Given the description of an element on the screen output the (x, y) to click on. 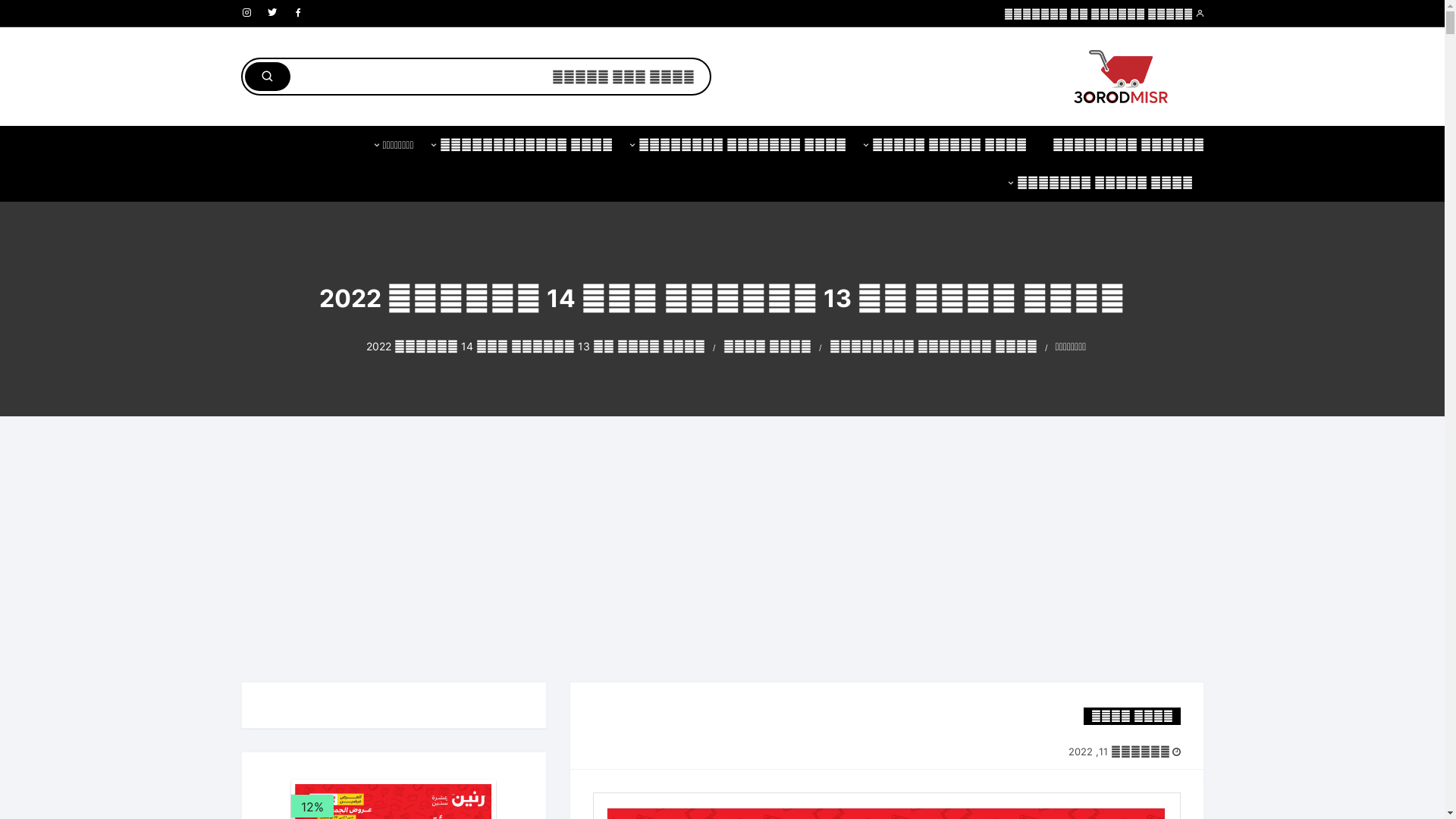
Advertisement Element type: hover (721, 564)
